Given the description of an element on the screen output the (x, y) to click on. 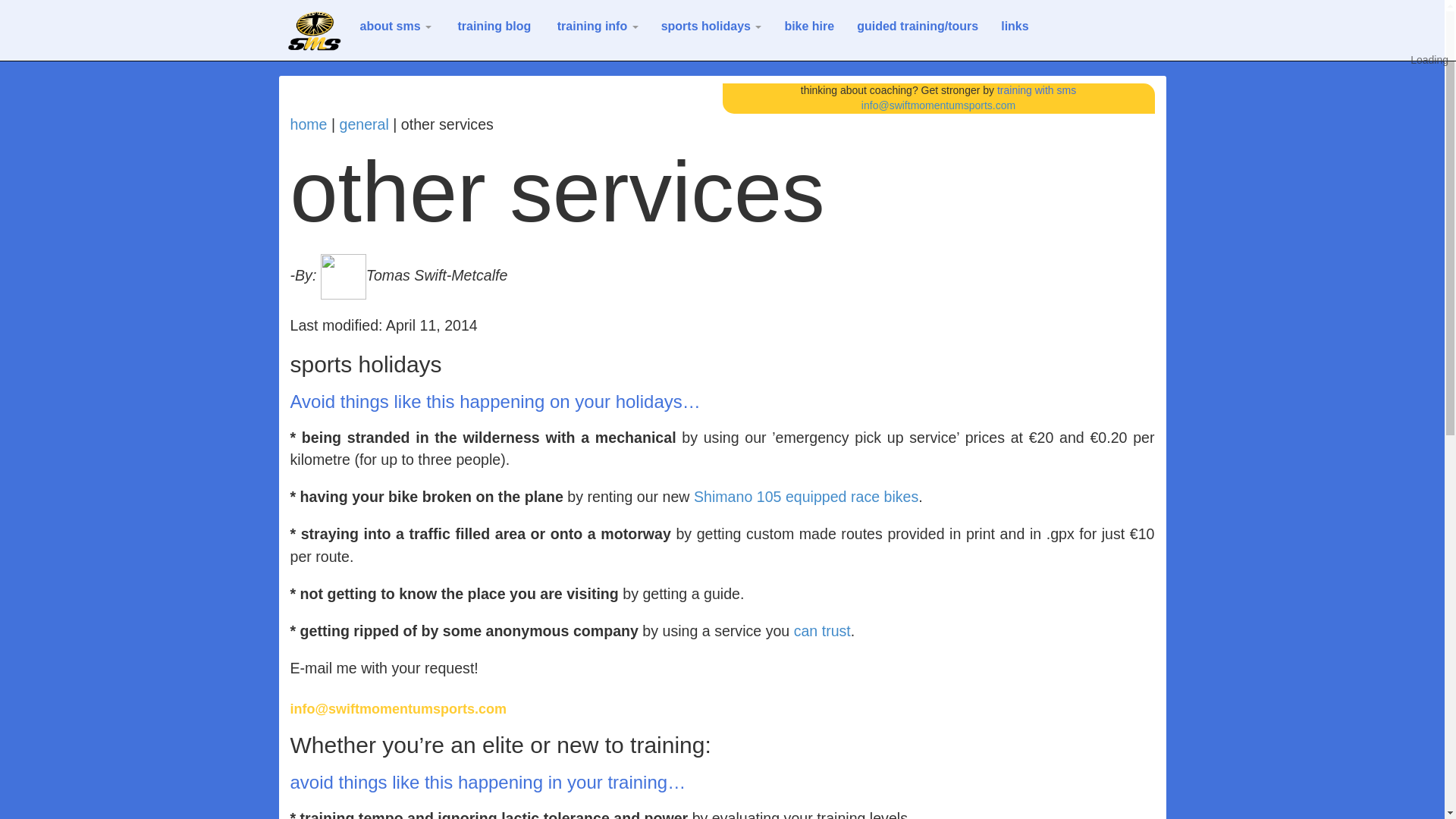
Shimano 105 equipped race bikes (806, 496)
training info (595, 26)
general (363, 124)
training with sms (1036, 90)
bike hire (809, 26)
training blog (491, 26)
about sms (393, 26)
sports holidays (711, 26)
 training blog (491, 26)
home (307, 124)
can trust (821, 630)
links (1014, 26)
 about sms (393, 26)
 training info (595, 26)
sports holidays (711, 26)
